Given the description of an element on the screen output the (x, y) to click on. 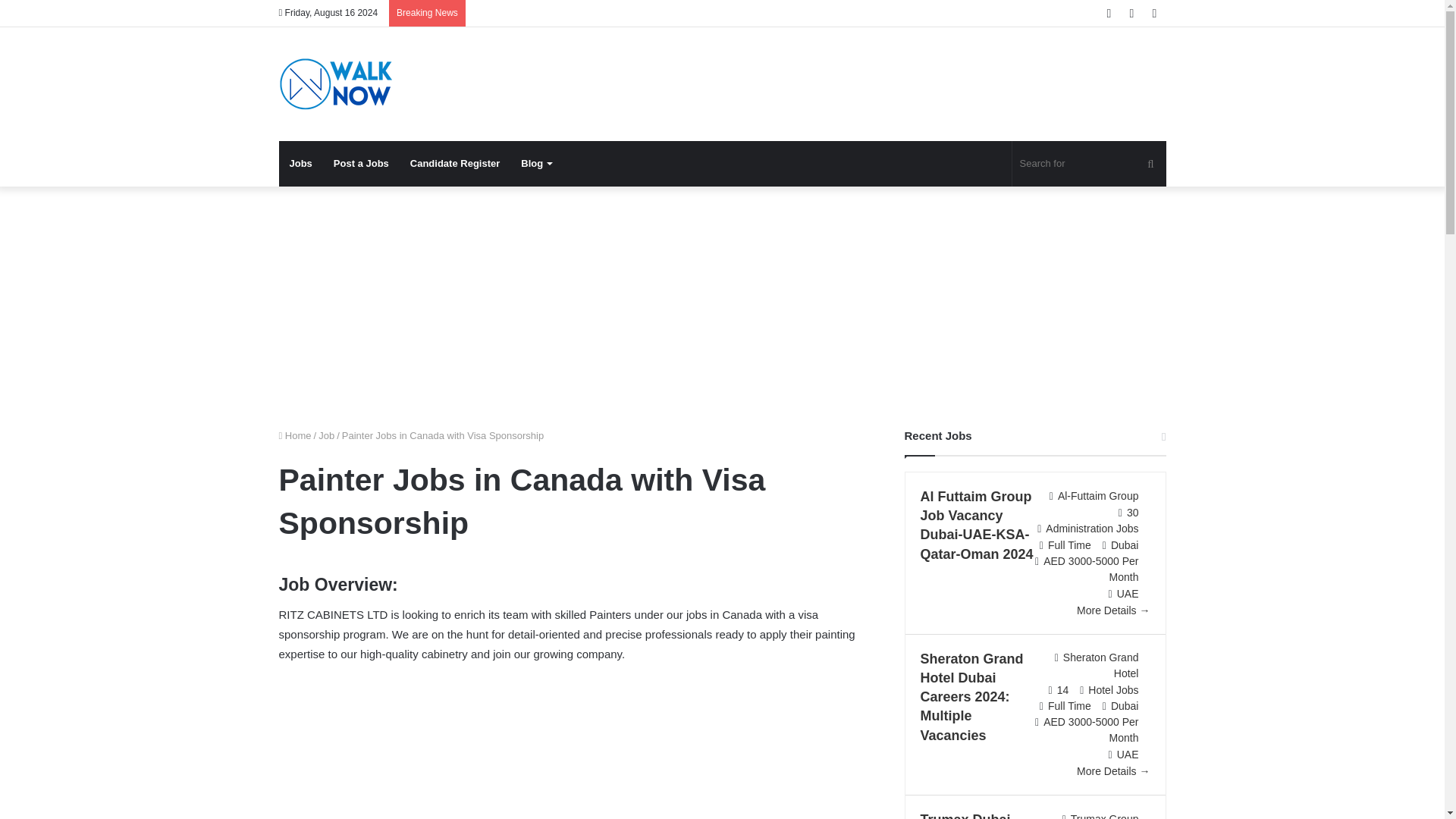
Post a Jobs (360, 163)
30 (1132, 512)
Home (295, 435)
Wel Come to Walknow Apply Now (336, 83)
Al Futtaim Group Job Vacancy Dubai-UAE-KSA-Qatar-Oman 2024 (976, 524)
Administration Jobs (1091, 528)
Full Time (1069, 544)
Advertisement (574, 751)
Al-Futtaim Group (1098, 495)
